Given the description of an element on the screen output the (x, y) to click on. 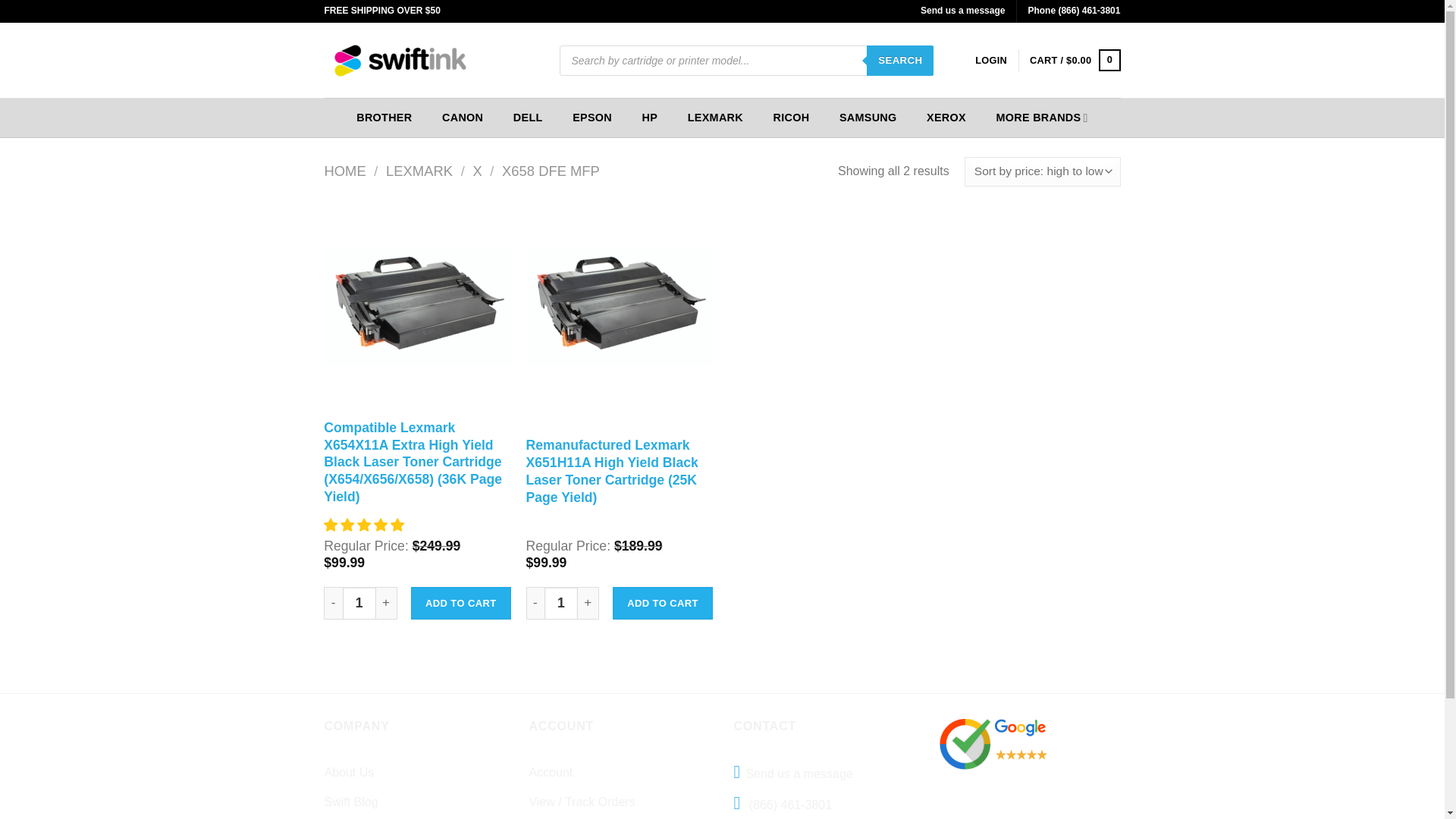
About Us (349, 772)
Send us a message (962, 9)
LOGIN (991, 60)
DELL (527, 117)
ADD TO CART (460, 603)
1 (561, 603)
1 (358, 603)
SEARCH (899, 60)
LEXMARK (418, 170)
X658 DFE MFP (550, 170)
